Given the description of an element on the screen output the (x, y) to click on. 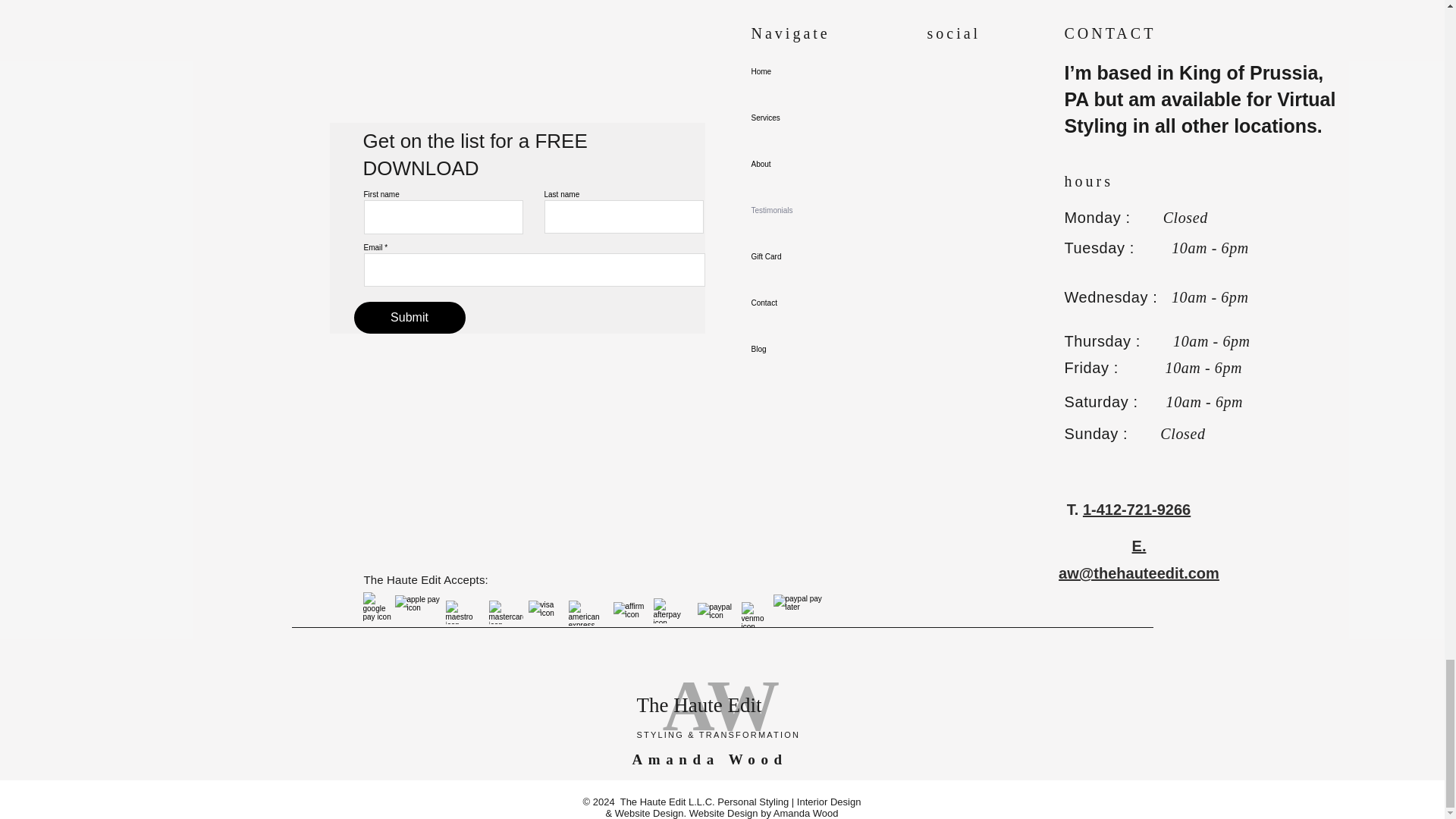
Testimonials (804, 210)
Blog (804, 348)
Gift Card (804, 255)
1-412-721-9266 (1137, 509)
Services (804, 117)
About (804, 163)
Submit (408, 317)
